Given the description of an element on the screen output the (x, y) to click on. 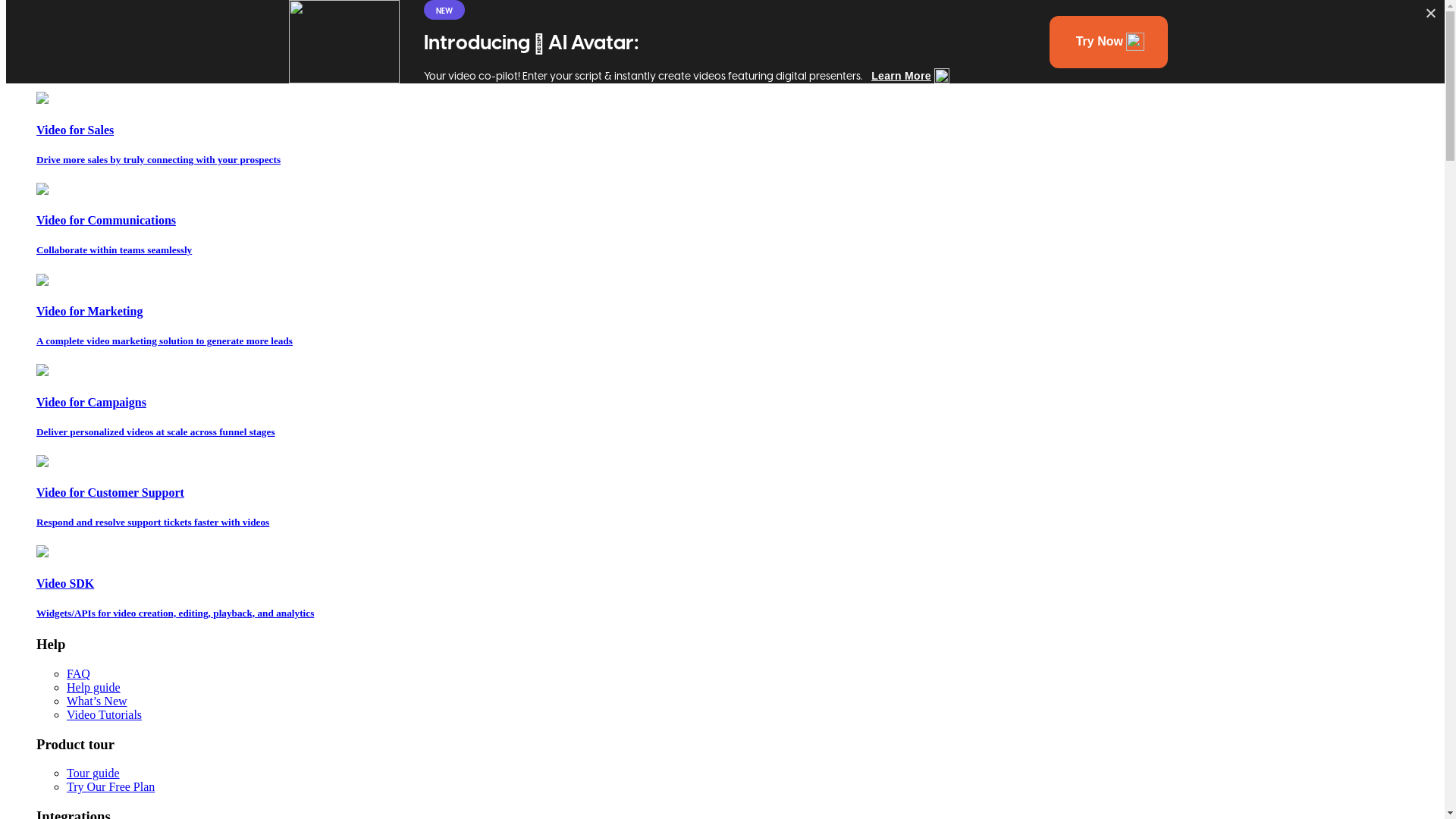
Tour guide Element type: text (92, 772)
Video Tutorials Element type: text (103, 714)
Help guide Element type: text (93, 686)
Try Now Element type: text (1099, 41)
Learn More Element type: text (901, 76)
Try Our Free Plan Element type: text (110, 786)
FAQ Element type: text (78, 673)
Video for Communications
Collaborate within teams seamlessly Element type: text (737, 219)
